Given the description of an element on the screen output the (x, y) to click on. 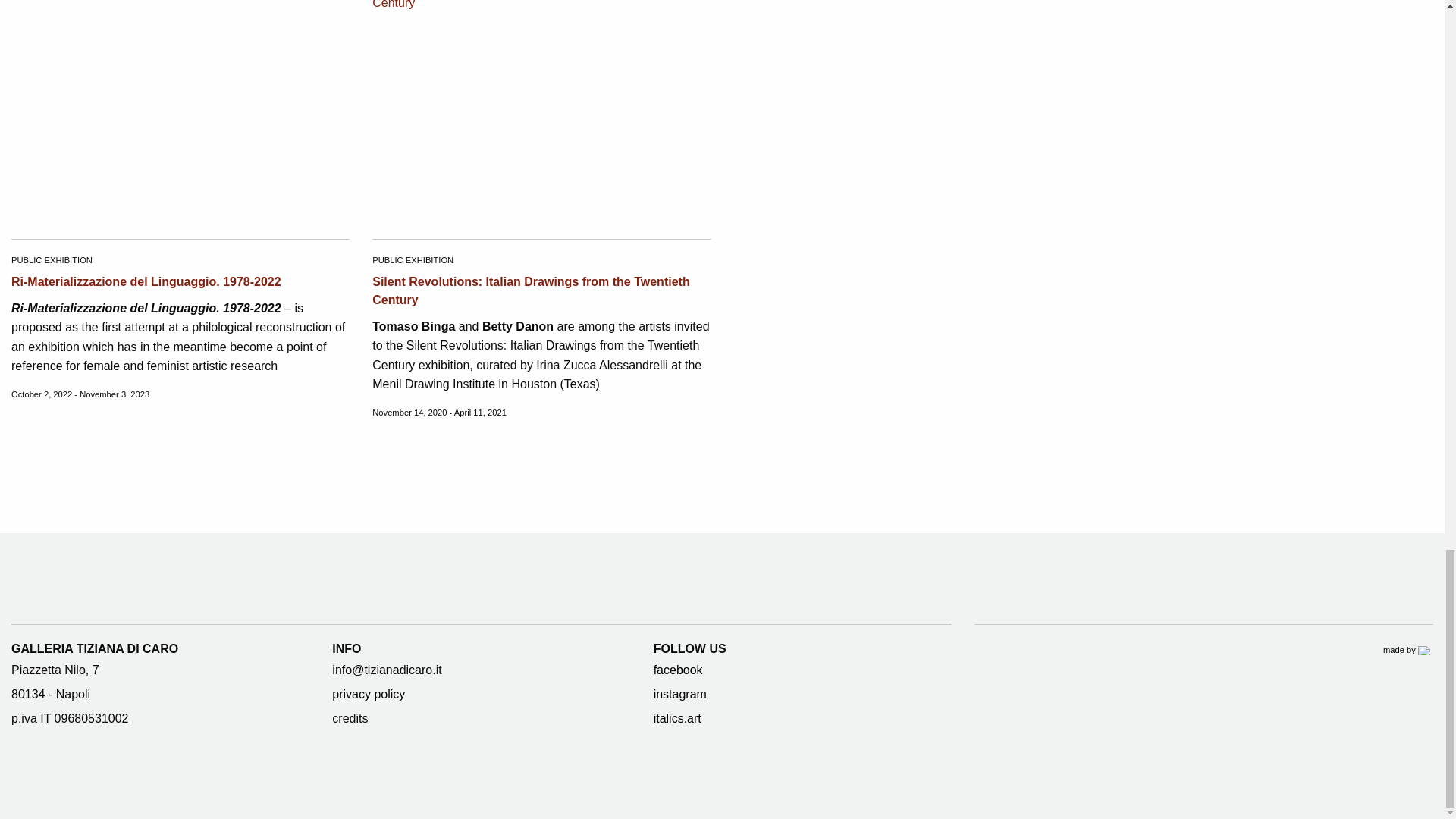
facebook (678, 669)
Ri-Materializzazione del Linguaggio. 1978-2022 (146, 281)
italics.art (677, 717)
made by (1407, 649)
instagram (679, 694)
privacy policy  (369, 694)
